Given the description of an element on the screen output the (x, y) to click on. 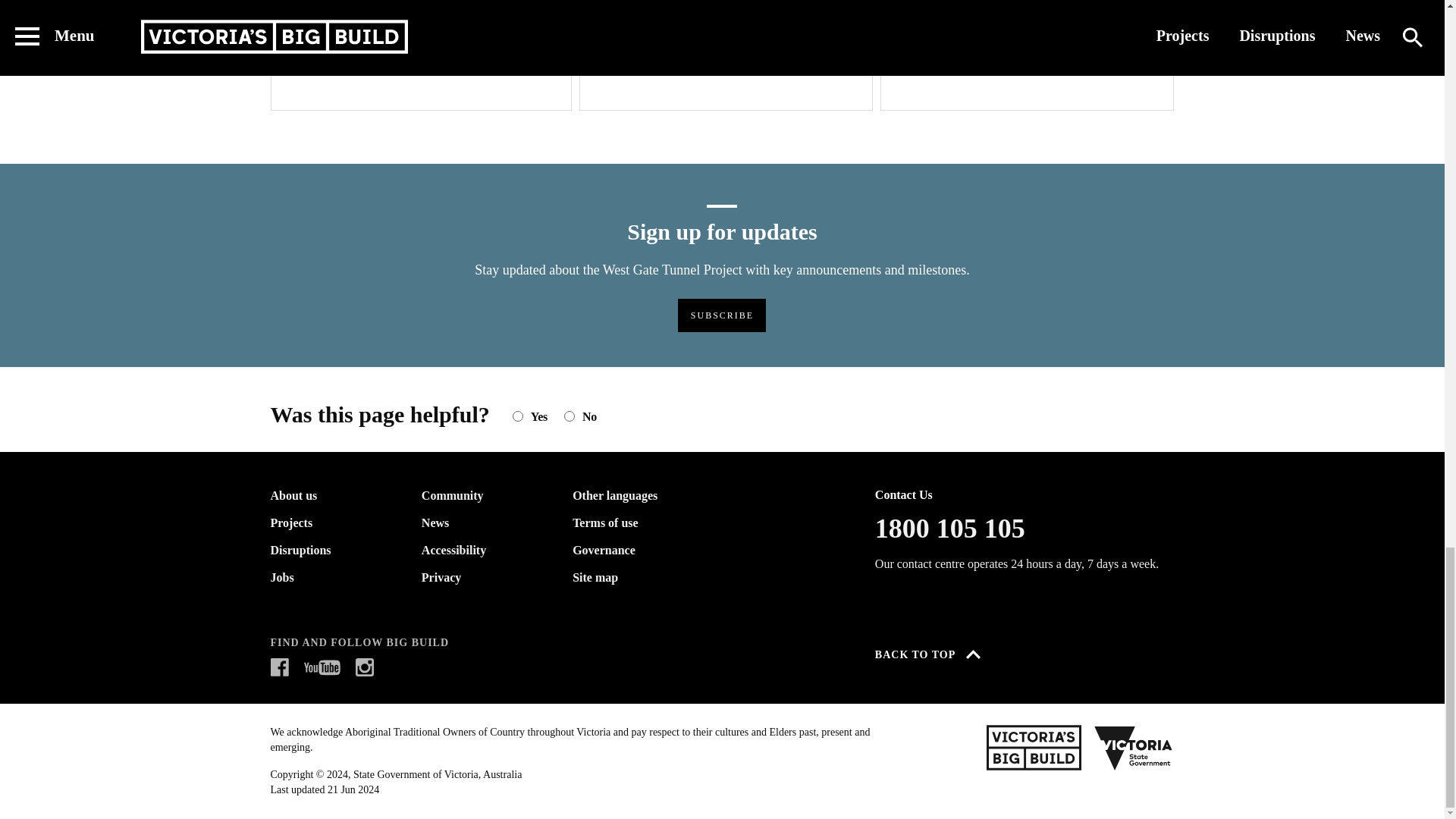
Partnerships and Grants Round 3 - successful applicants (419, 54)
